Given the description of an element on the screen output the (x, y) to click on. 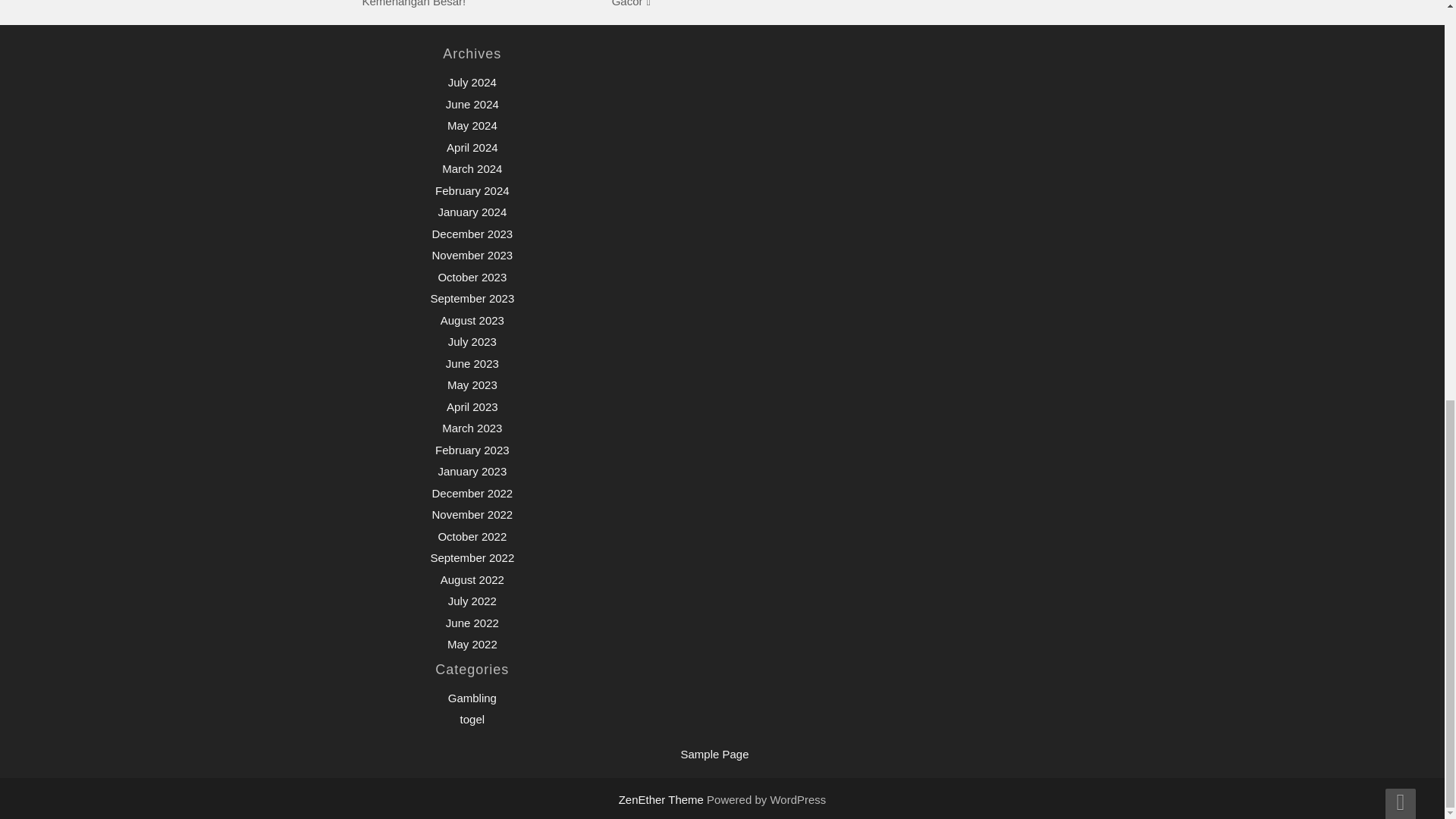
March 2024 (472, 168)
November 2022 (471, 513)
December 2023 (471, 233)
October 2022 (472, 535)
December 2022 (471, 492)
June 2024 (472, 103)
May 2023 (471, 384)
November 2023 (471, 254)
August 2022 (472, 579)
March 2023 (472, 427)
July 2023 (472, 341)
September 2023 (471, 297)
August 2023 (472, 319)
July 2024 (472, 82)
